Given the description of an element on the screen output the (x, y) to click on. 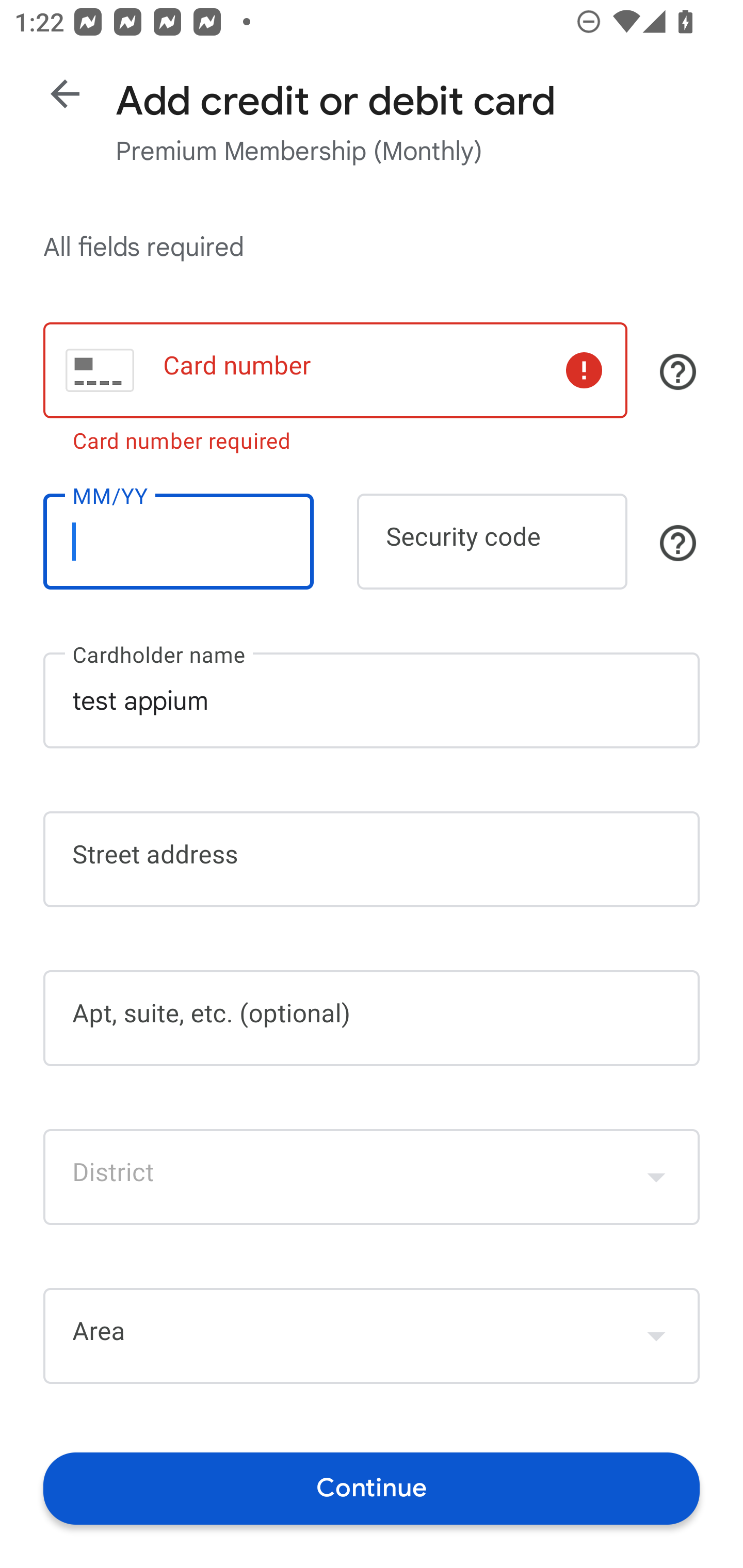
Back (64, 93)
Card number (335, 370)
Button, shows cards that are accepted for payment (677, 371)
Expiration date, 2 digit month, 2 digit year (178, 541)
Security code (492, 541)
Security code help (677, 543)
test appium (371, 699)
Street address (371, 858)
Apt, suite, etc. (optional) (371, 1018)
District (371, 1176)
Show dropdown menu (655, 1176)
Area (371, 1335)
Show dropdown menu (655, 1335)
Continue (371, 1487)
